Given the description of an element on the screen output the (x, y) to click on. 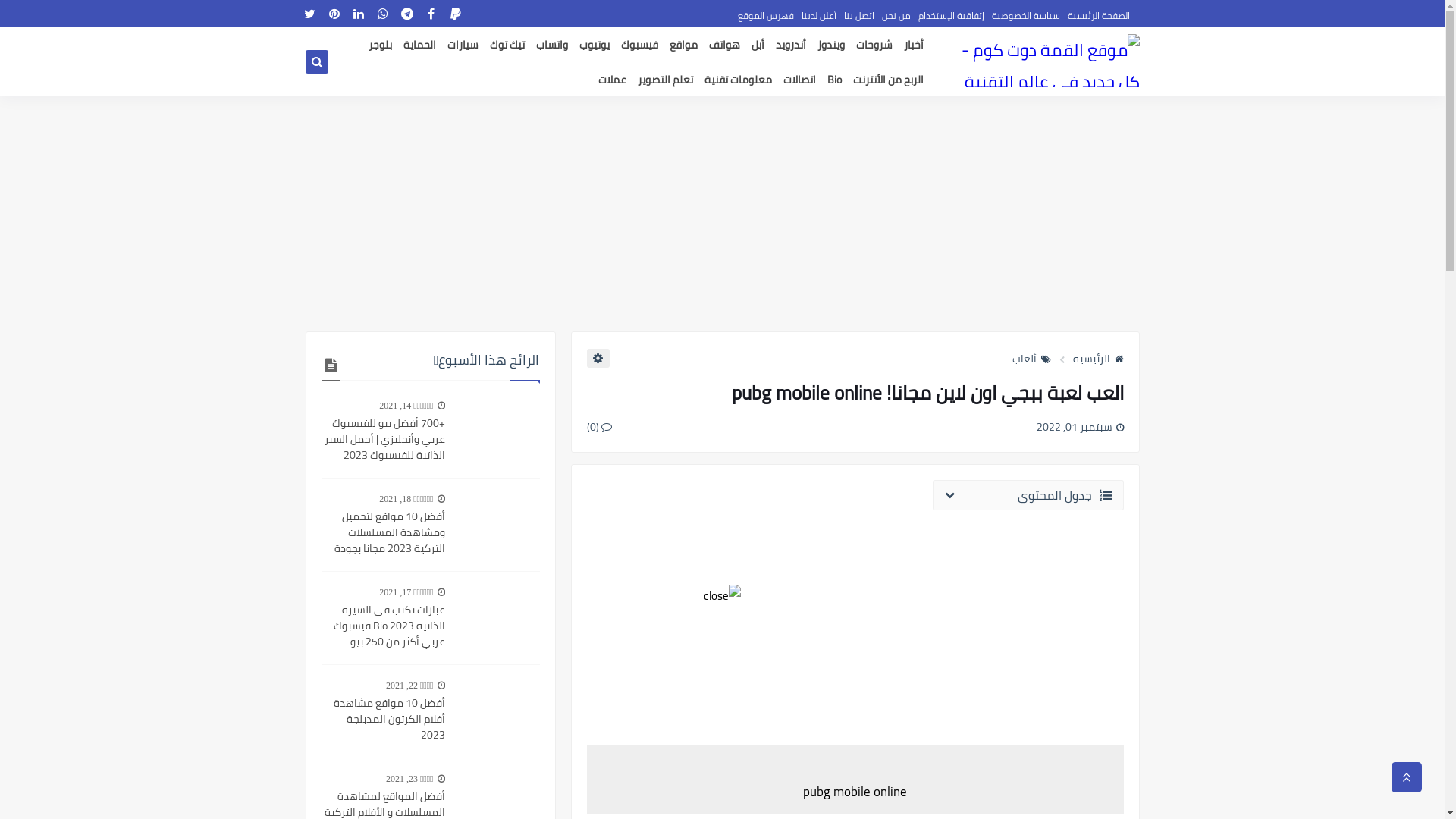
twitter Element type: hover (309, 13)
Advertisement Element type: hover (854, 627)
paypal Element type: hover (455, 13)
whatsapp Element type: hover (382, 13)
Advertisement Element type: hover (721, 213)
pinterest Element type: hover (333, 13)
(0) Element type: text (598, 426)
close button Element type: hover (721, 595)
linkedin Element type: hover (358, 13)
Bio Element type: text (833, 79)
facebook Element type: hover (430, 13)
telegram Element type: hover (406, 13)
